Given the description of an element on the screen output the (x, y) to click on. 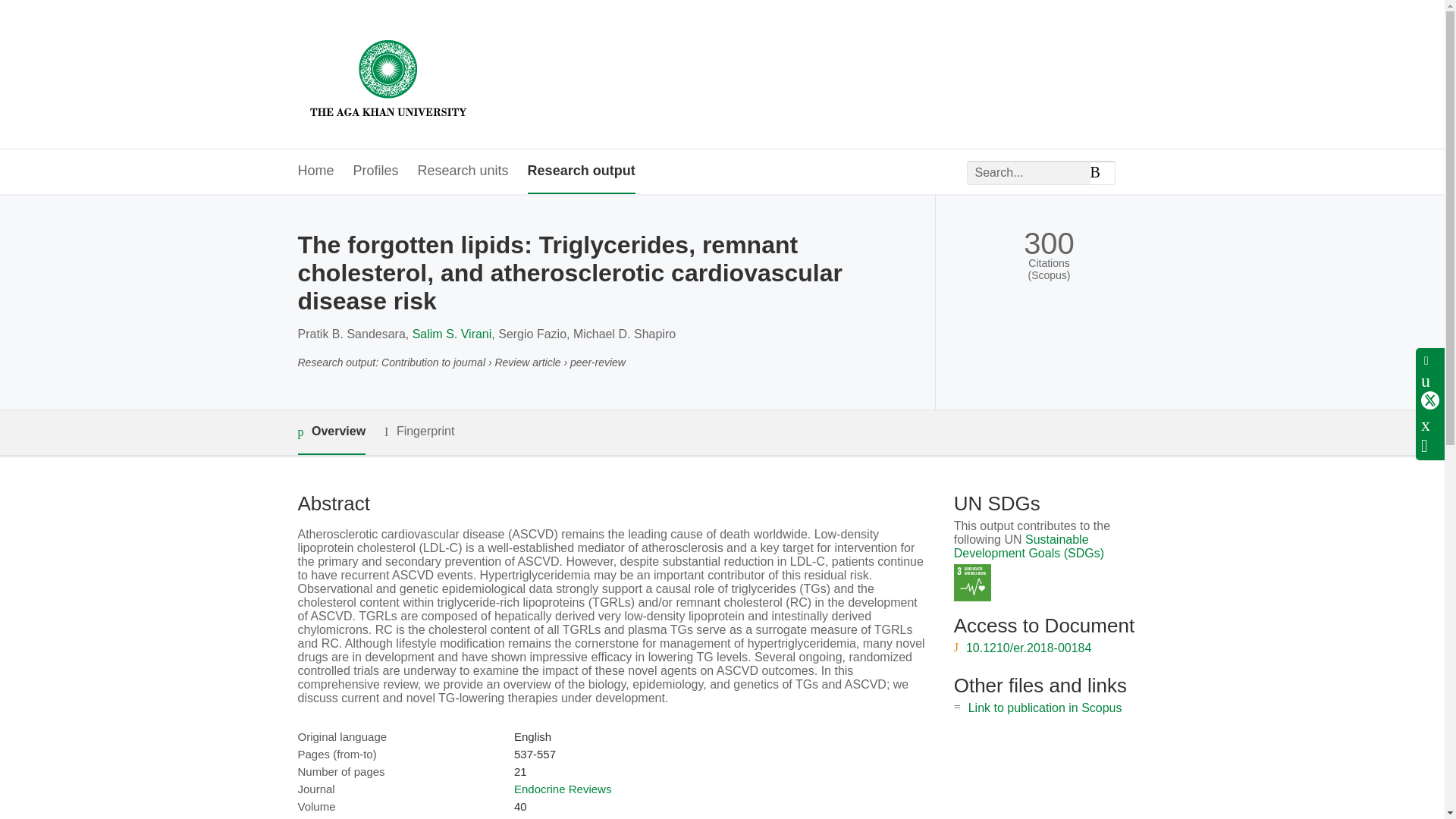
The Aga Khan University Home (388, 74)
Research output (580, 171)
Salim S. Virani (452, 333)
Profiles (375, 171)
Fingerprint (419, 431)
Research units (462, 171)
Link to publication in Scopus (1045, 707)
Overview (331, 432)
Endocrine Reviews (562, 788)
